Given the description of an element on the screen output the (x, y) to click on. 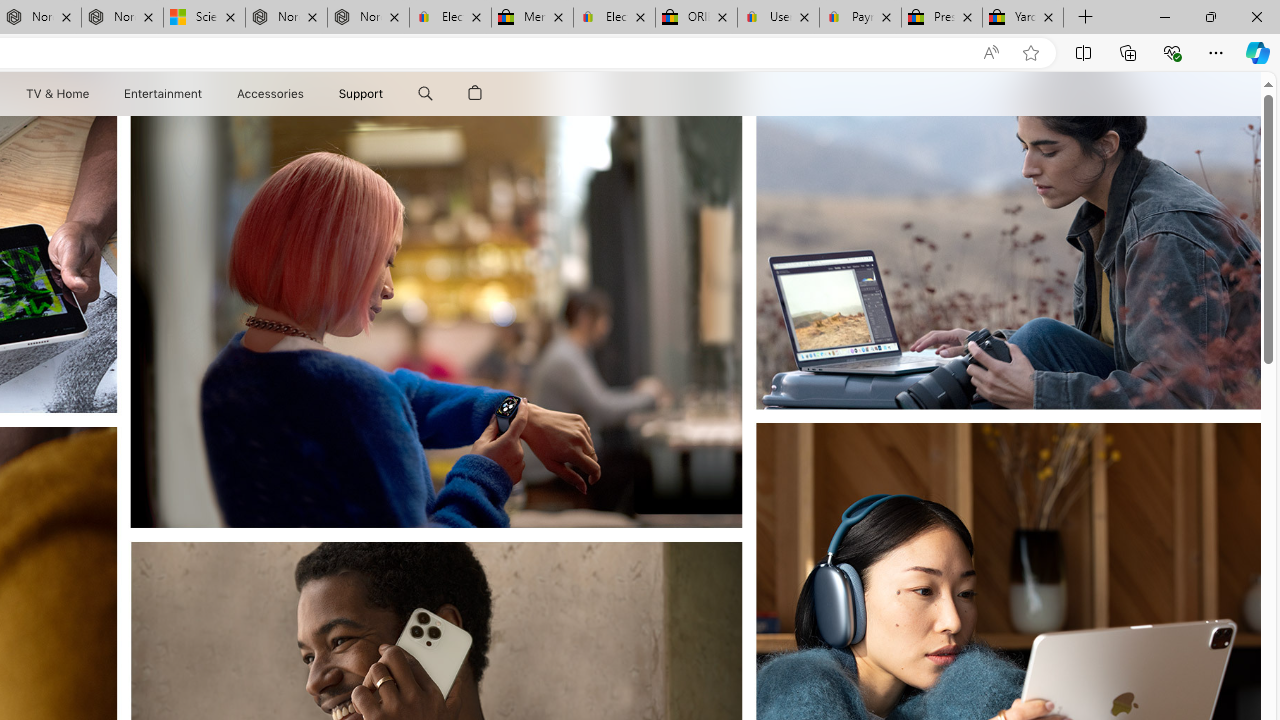
Shopping Bag (475, 93)
